Given the description of an element on the screen output the (x, y) to click on. 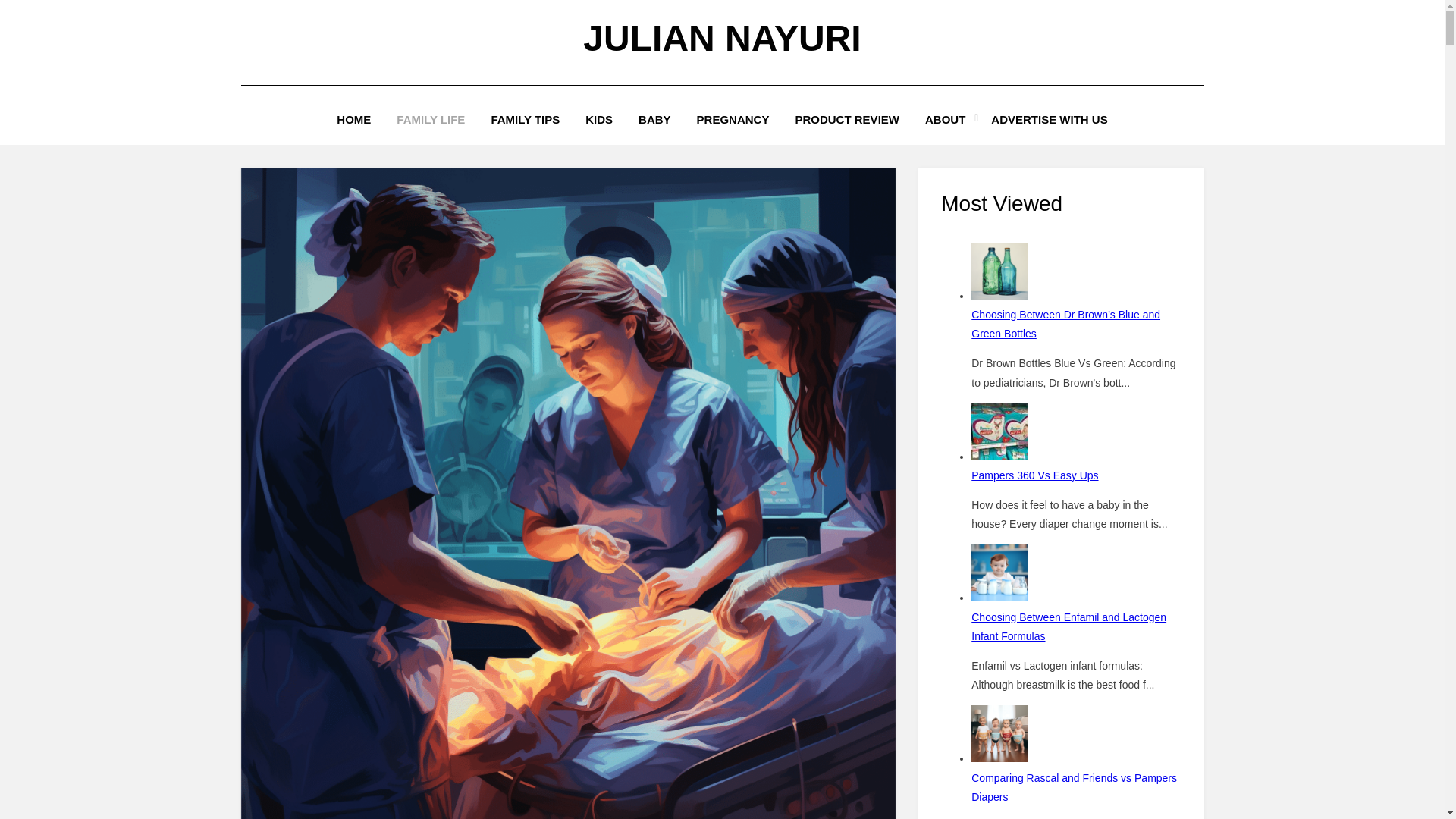
ADVERTISE WITH US (1048, 118)
PRODUCT REVIEW (846, 118)
FAMILY TIPS (524, 118)
KIDS (599, 118)
Julian Nayuri (721, 38)
FAMILY LIFE (430, 118)
BABY (655, 118)
PREGNANCY (733, 118)
JULIAN NAYURI (721, 38)
HOME (353, 118)
ABOUT (945, 118)
